Given the description of an element on the screen output the (x, y) to click on. 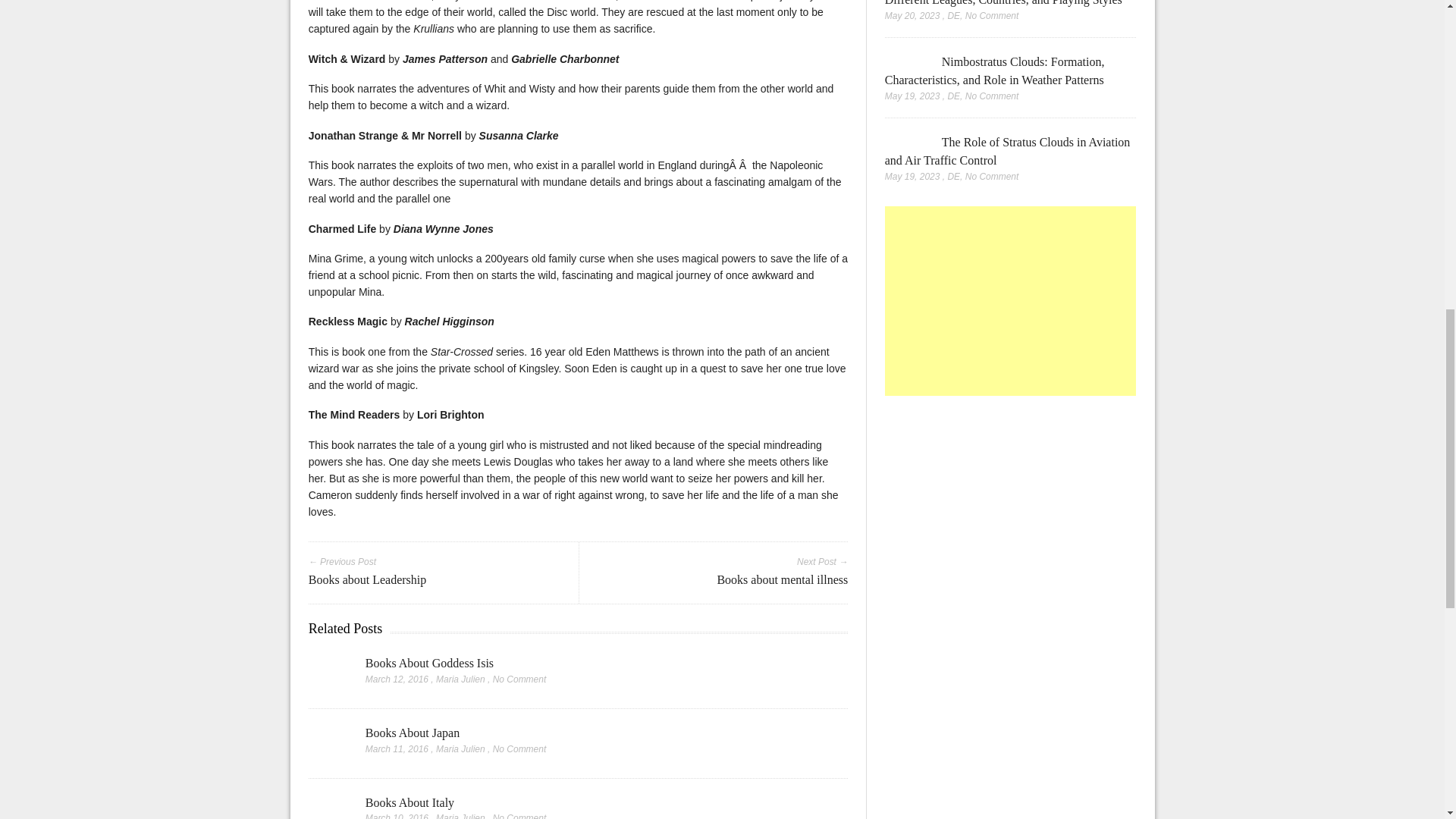
Books About Italy (409, 802)
Books About Goddess Isis (429, 662)
Books About Japan (412, 732)
Books About Japan (329, 744)
Books About Japan (412, 732)
Posts by Maria Julien (459, 748)
No Comment (520, 679)
Posts by Maria Julien (459, 679)
No Comment (520, 748)
Maria Julien (459, 679)
